Given the description of an element on the screen output the (x, y) to click on. 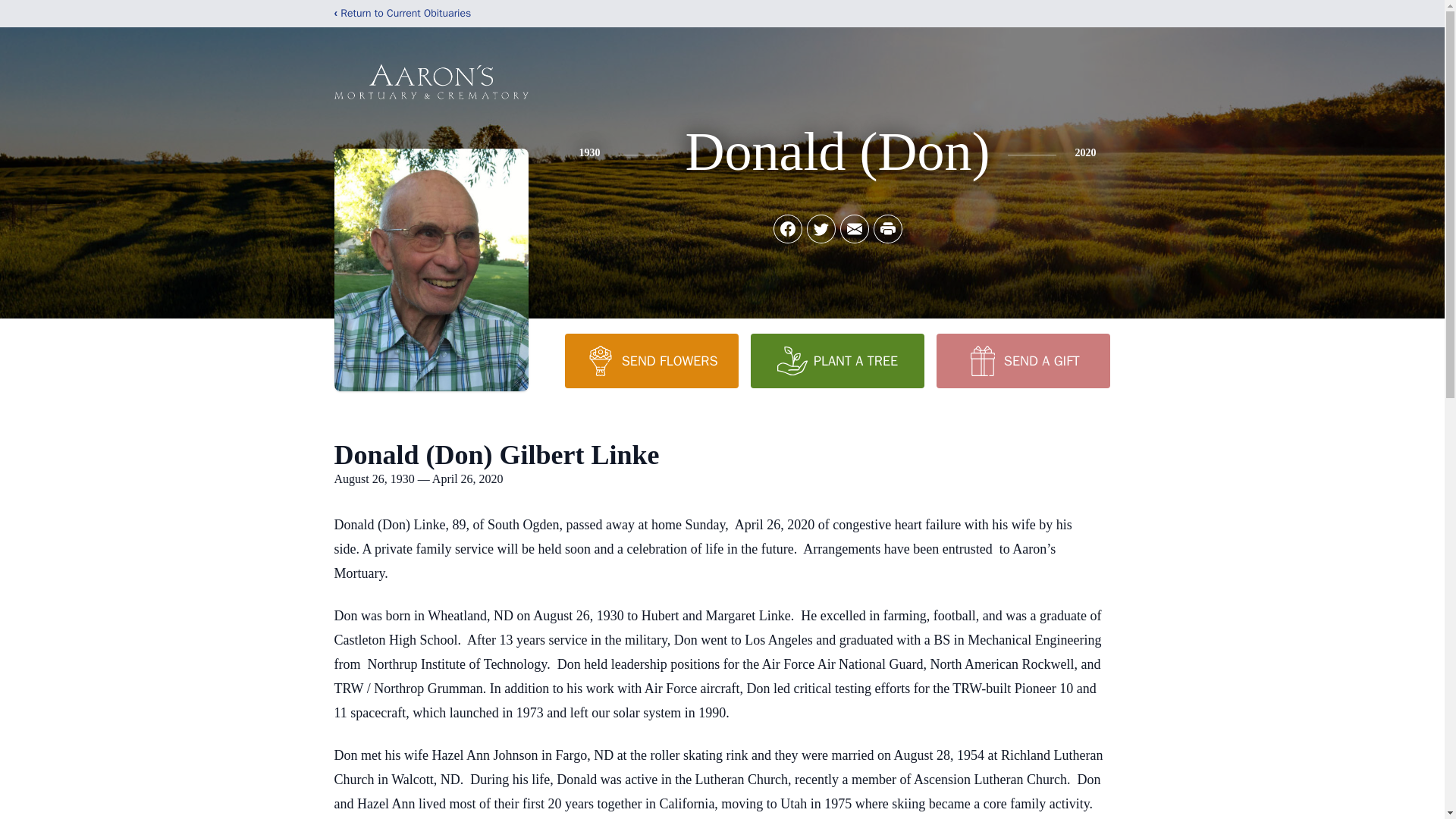
SEND FLOWERS (651, 360)
PLANT A TREE (837, 360)
SEND A GIFT (1022, 360)
